Given the description of an element on the screen output the (x, y) to click on. 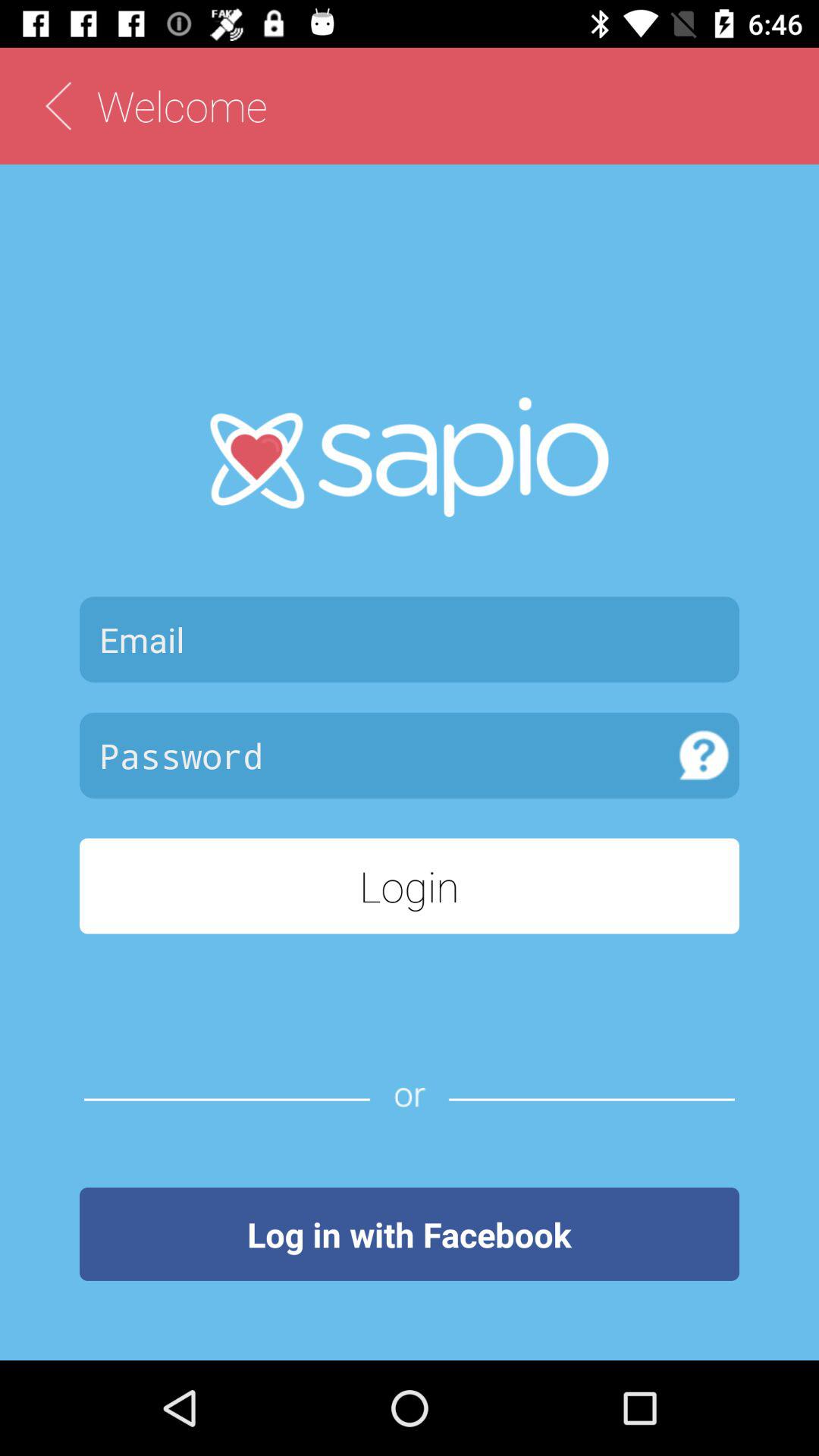
turn on the log in with icon (409, 1233)
